Given the description of an element on the screen output the (x, y) to click on. 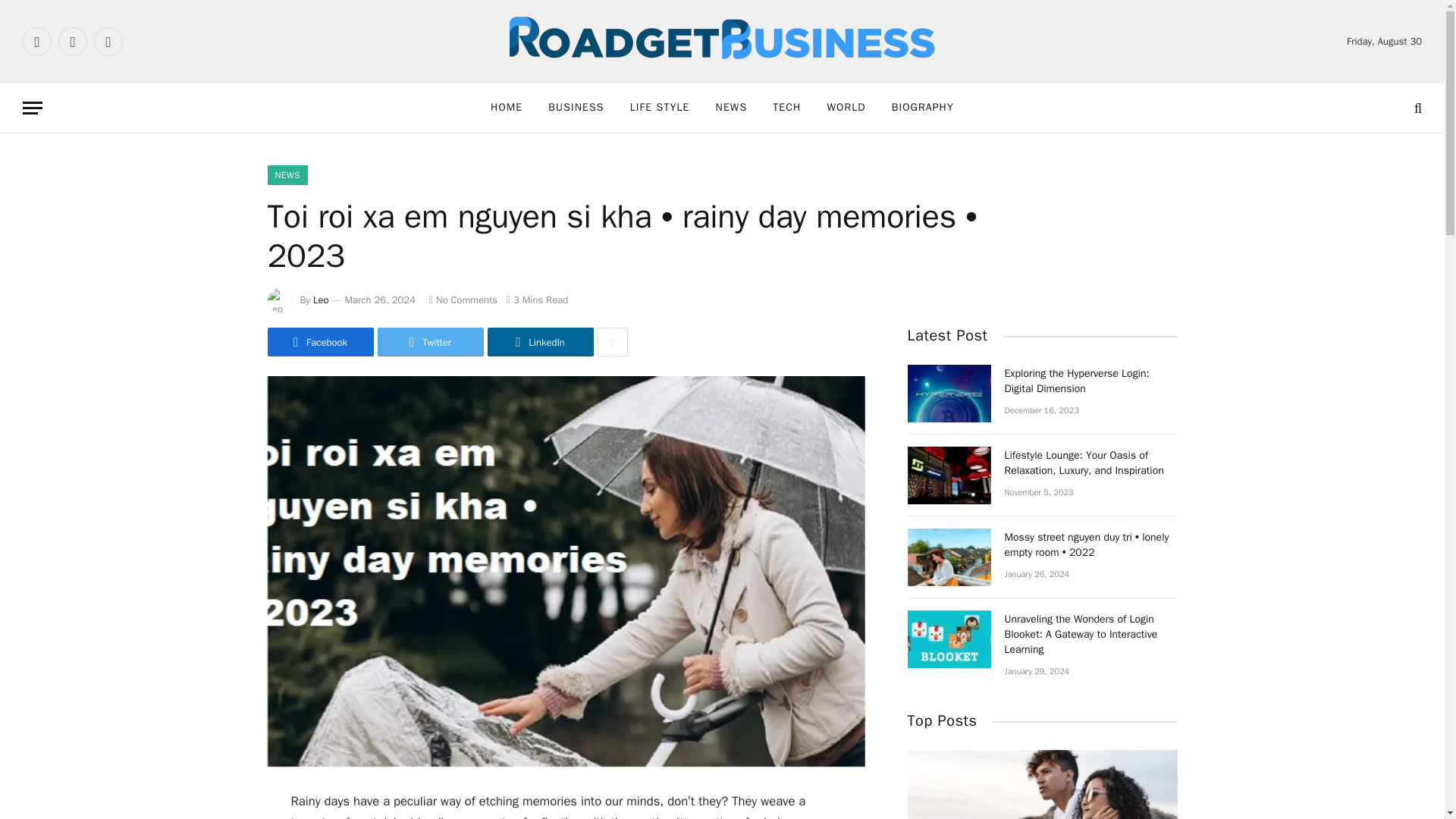
Posts by Leo (321, 298)
LinkedIn (539, 341)
NEWS (286, 175)
NEWS (731, 107)
Leo (321, 298)
WORLD (845, 107)
LIFE STYLE (660, 107)
BIOGRAPHY (922, 107)
BUSINESS (575, 107)
Twitter (430, 341)
